Given the description of an element on the screen output the (x, y) to click on. 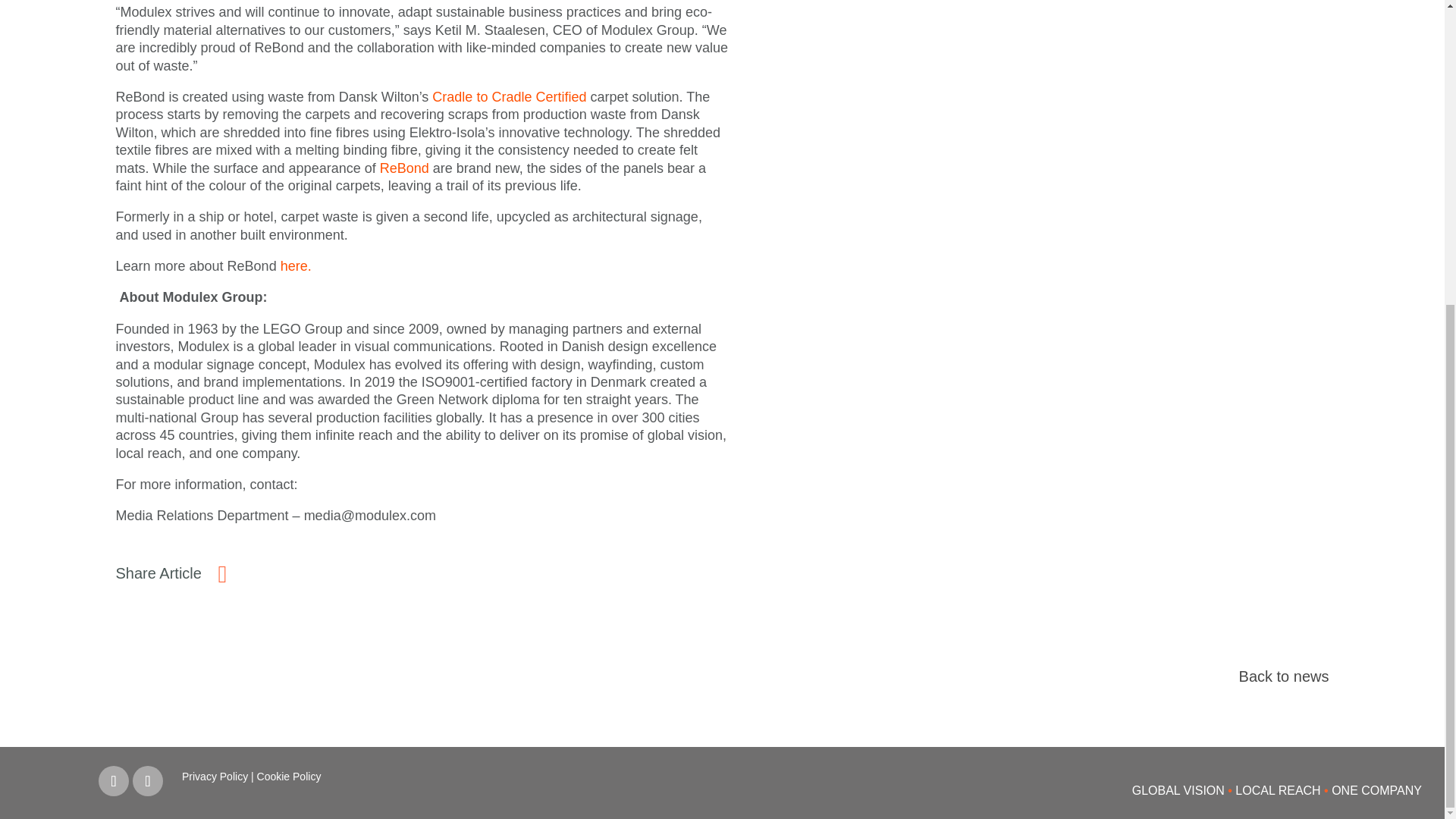
here. (296, 265)
ReBond (406, 168)
Share Article (157, 573)
Cradle to Cradle Certified (510, 96)
